Given the description of an element on the screen output the (x, y) to click on. 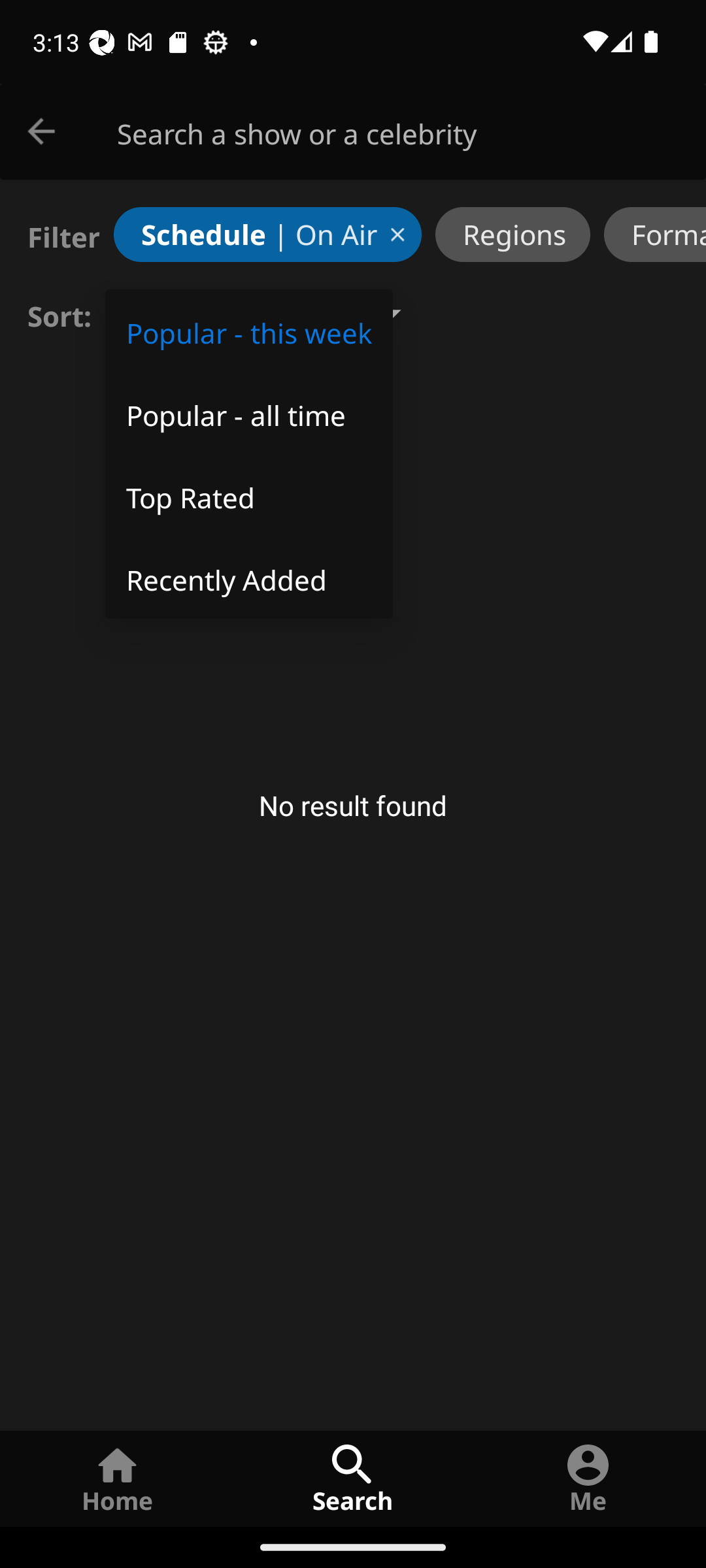
Popular - this week sort_option_views_recent (248, 330)
Popular - all time sort_option_views (248, 412)
Top Rated sort_option_average_rating (248, 495)
Recently Added sort_option_newest_video (248, 577)
